Given the description of an element on the screen output the (x, y) to click on. 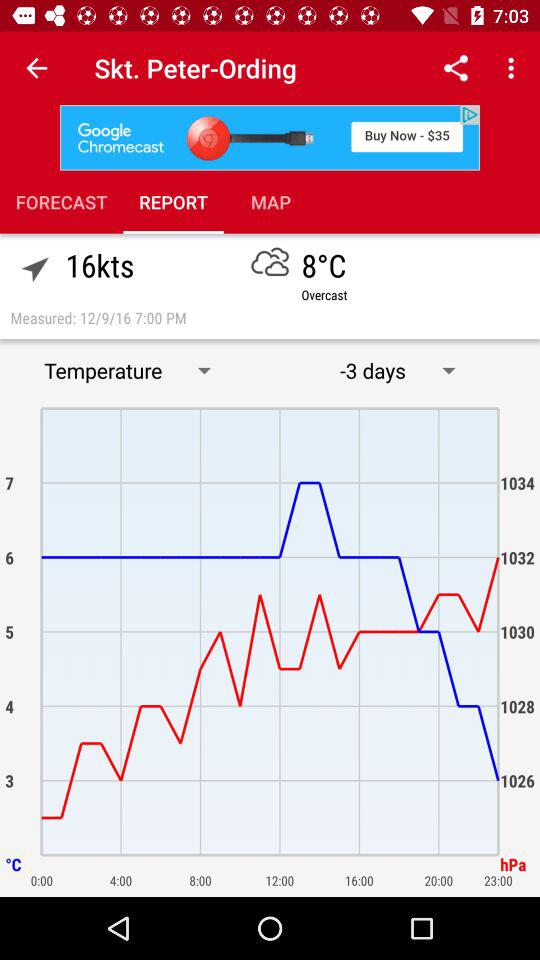
advertisement link to different site (270, 137)
